Given the description of an element on the screen output the (x, y) to click on. 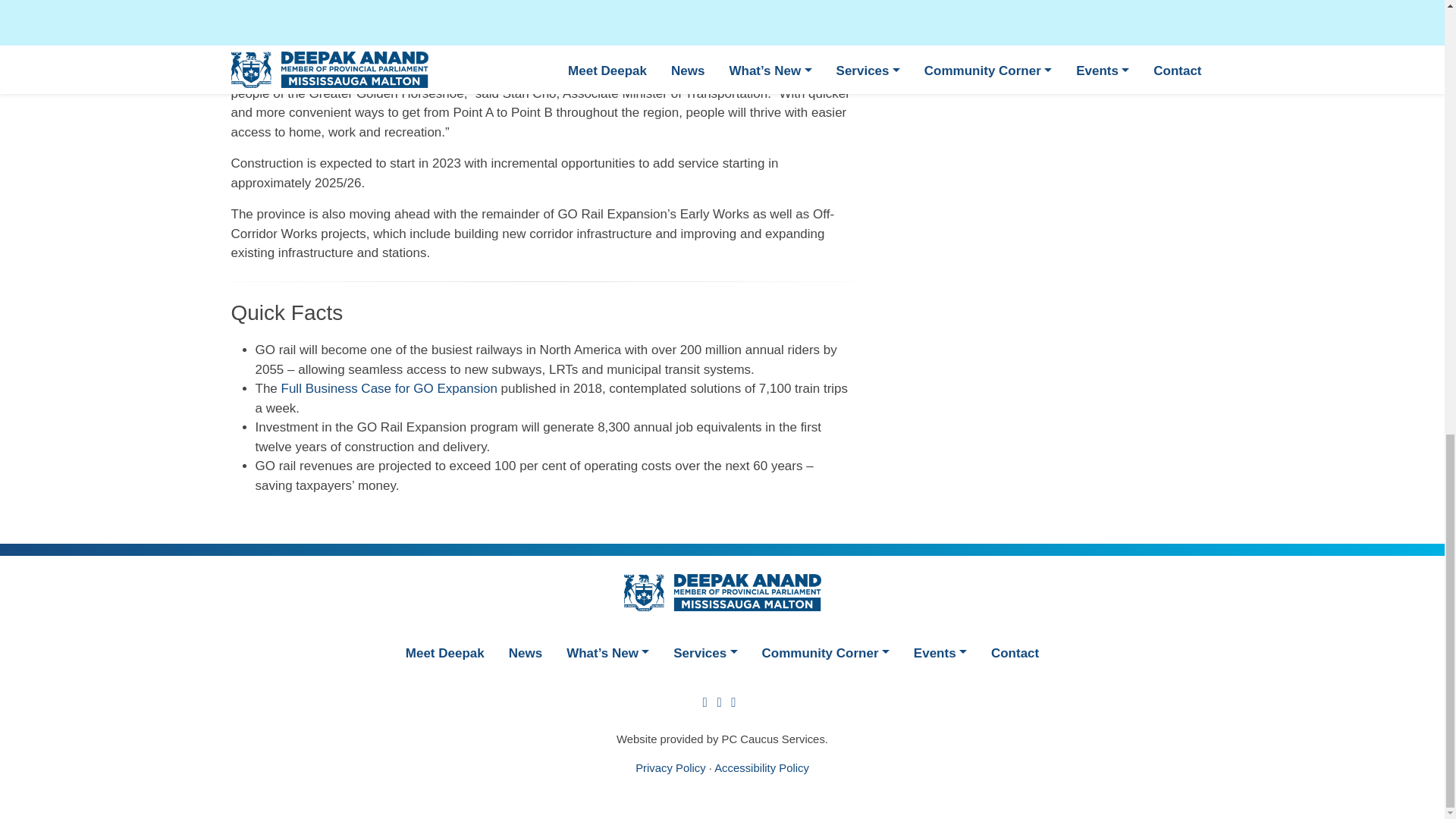
News (525, 651)
Meet Deepak (444, 651)
Full Business Case for GO Expansion (389, 388)
